Given the description of an element on the screen output the (x, y) to click on. 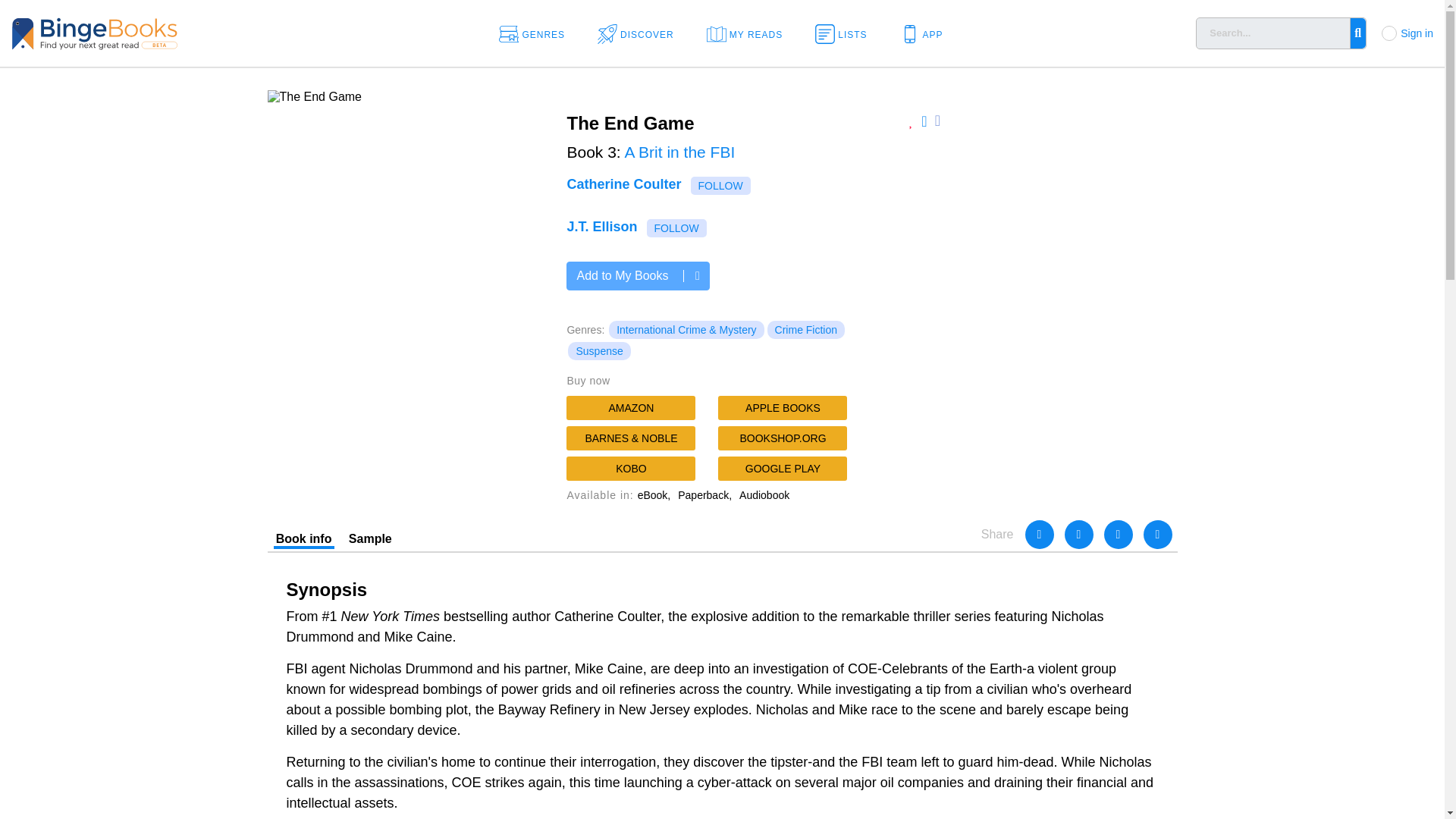
MY READS (749, 33)
Crime Fiction (805, 330)
Suspense (598, 351)
FOLLOW (676, 228)
Sign in (1416, 33)
Genres (537, 33)
Catherine Coulter (623, 183)
Add to My Books (637, 275)
LISTS (845, 33)
A Brit in the FBI (679, 151)
